Given the description of an element on the screen output the (x, y) to click on. 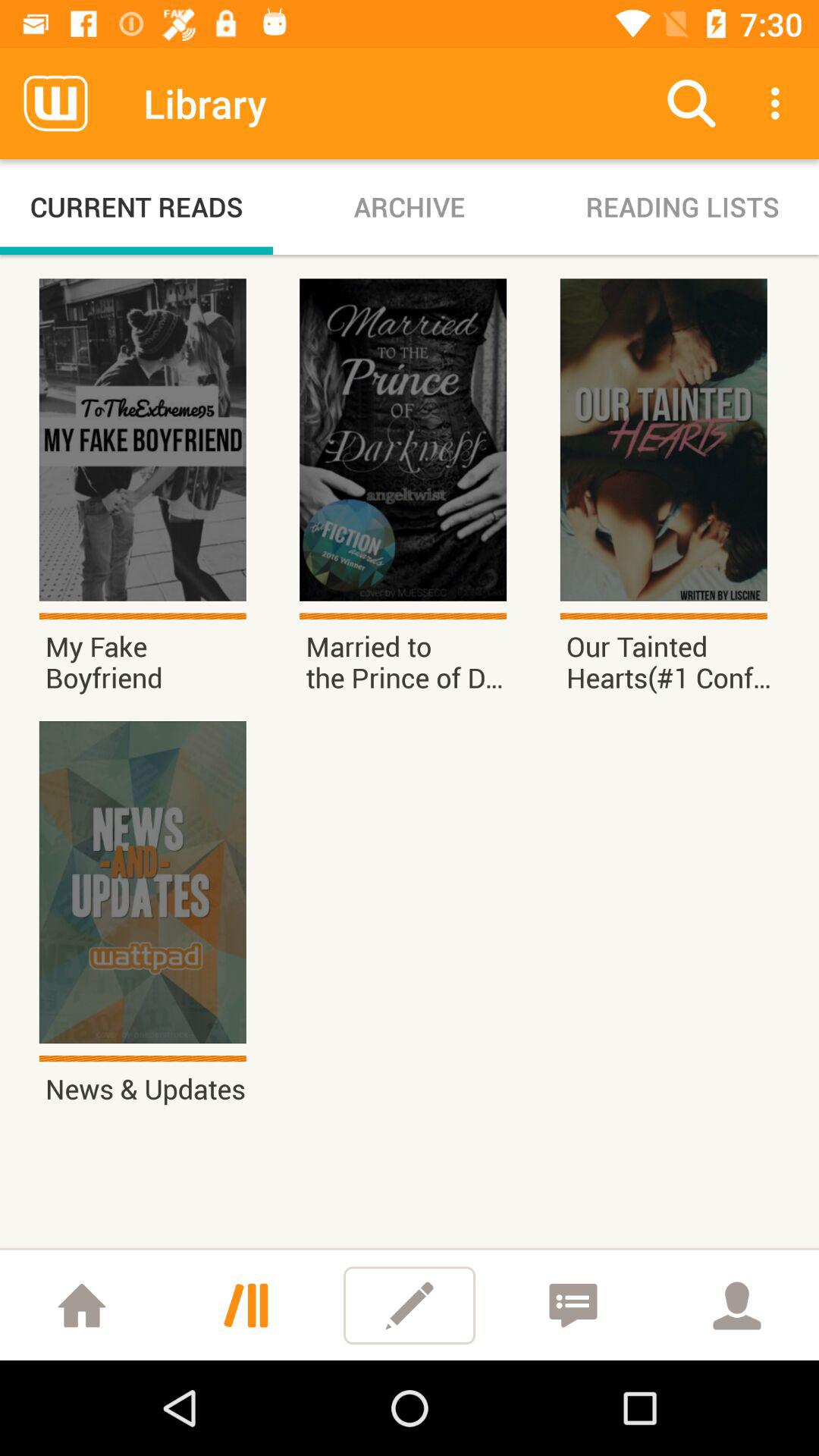
click icon to the right of archive (691, 103)
